Given the description of an element on the screen output the (x, y) to click on. 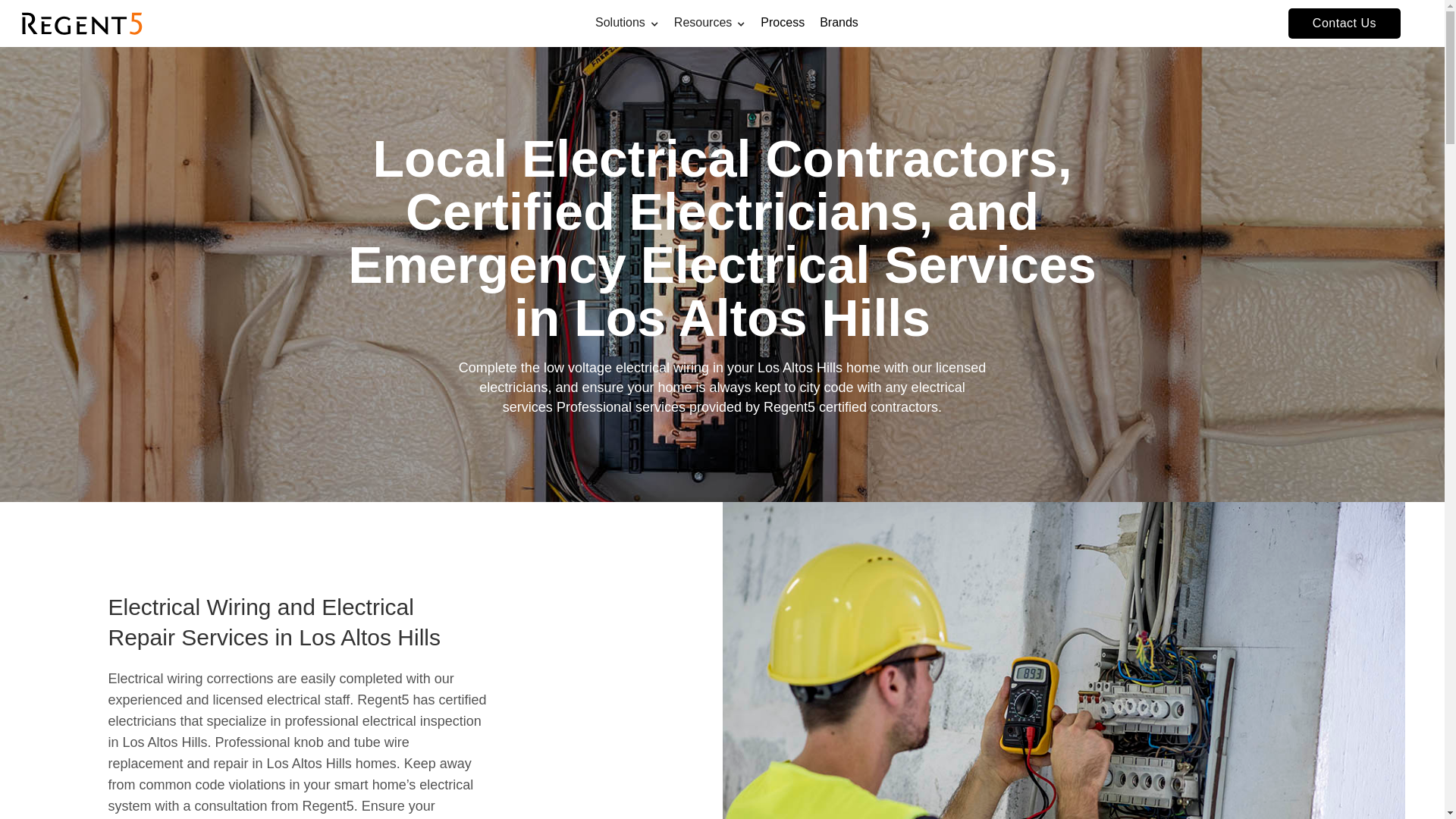
Process (782, 18)
Brands (839, 18)
Contact Us (1344, 23)
